Given the description of an element on the screen output the (x, y) to click on. 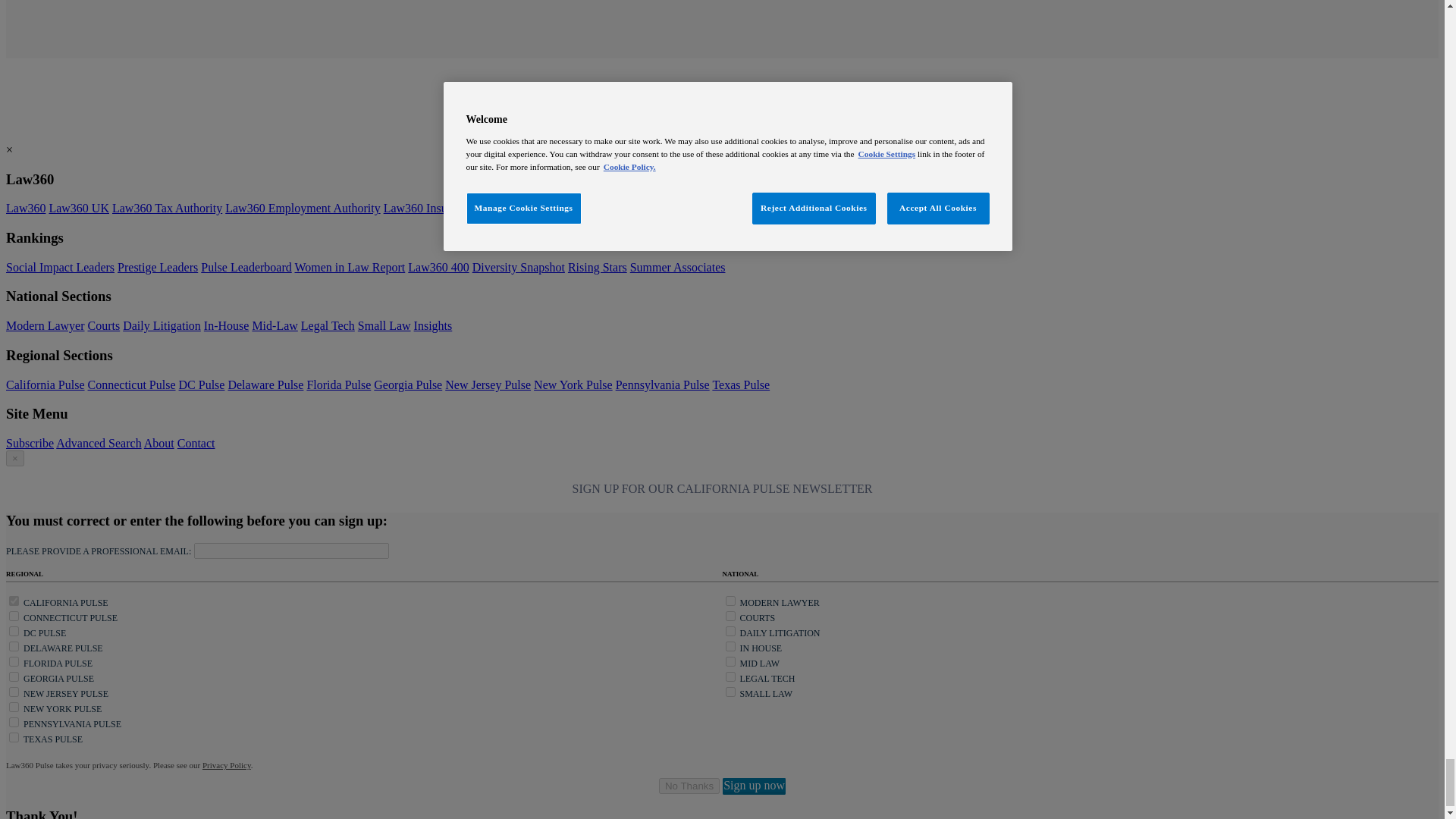
mid-law (730, 661)
new-york-pulse (13, 706)
in-house (730, 646)
dc-pulse (13, 631)
legal-tech (730, 676)
courts (730, 615)
modern-lawyer (730, 601)
texas-pulse (13, 737)
connecticut-pulse (13, 615)
california-pulse (13, 601)
new-jersey-pulse (13, 691)
delaware-pulse (13, 646)
small-law (730, 691)
pennsylvania-pulse (13, 722)
georgia-pulse (13, 676)
